Given the description of an element on the screen output the (x, y) to click on. 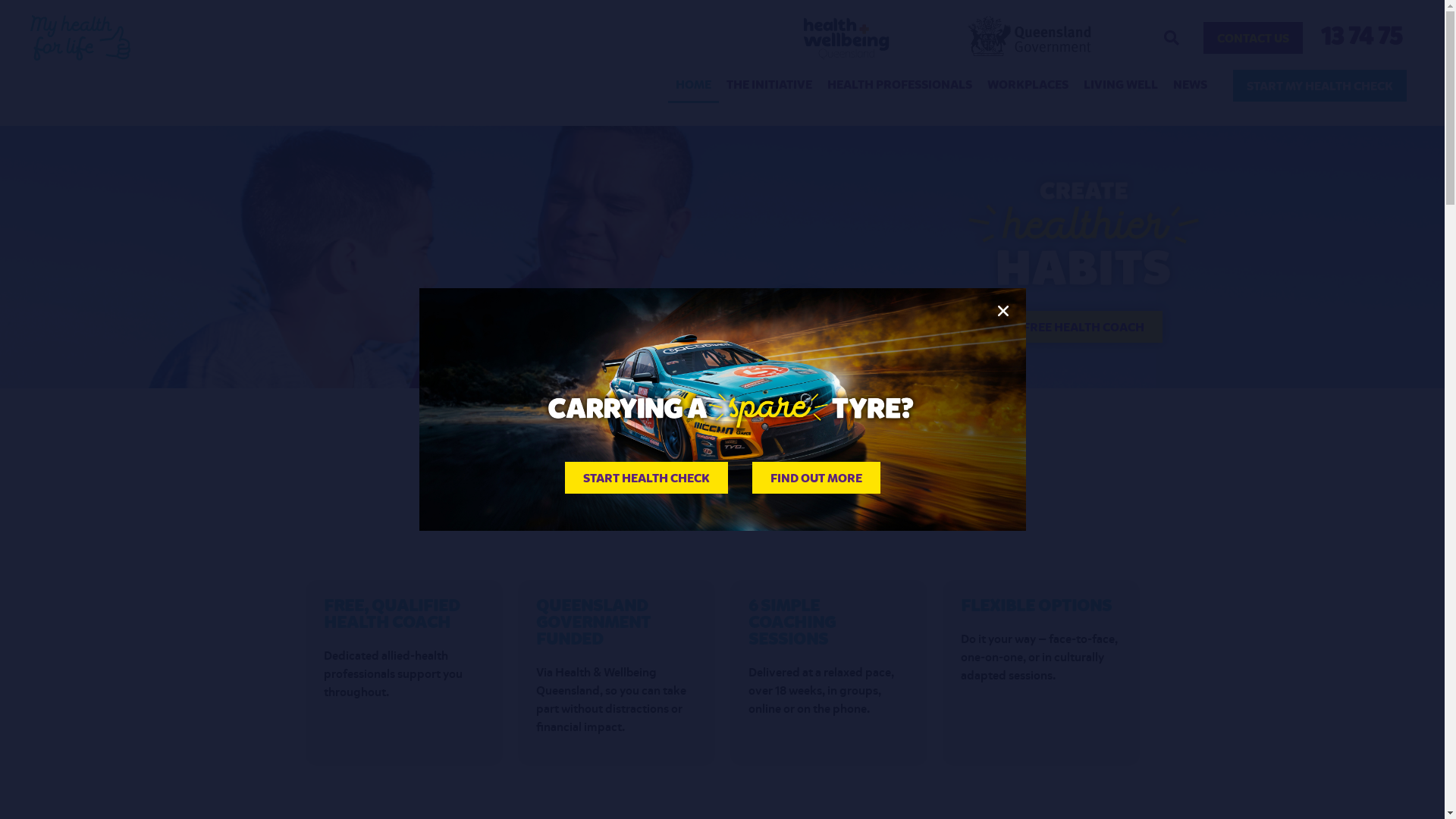
NEWS Element type: text (1189, 85)
START HEALTH CHECK Element type: text (645, 477)
THE INITIATIVE Element type: text (768, 85)
FIND OUT MORE Element type: text (816, 477)
LIVING WELL Element type: text (1120, 85)
HEALTH PROFESSIONALS Element type: text (899, 85)
WORKPLACES Element type: text (1027, 85)
Logos Element type: hover (947, 37)
CONTACT US Element type: text (1252, 37)
START MY HEALTH CHECK Element type: text (1319, 85)
HOME Element type: text (693, 85)
FREE HEALTH COACH Element type: text (1083, 326)
13 74 75 Element type: text (1361, 37)
